Given the description of an element on the screen output the (x, y) to click on. 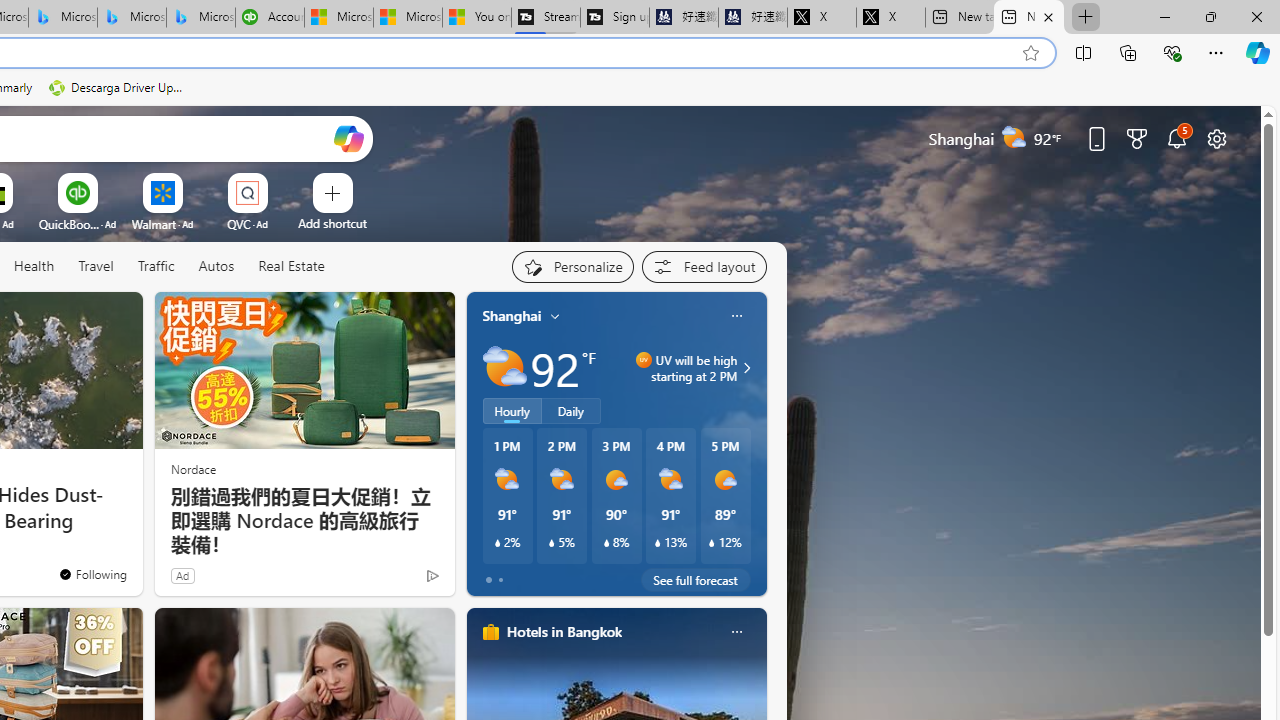
Partly sunny (504, 368)
Partly sunny (504, 368)
hotels-header-icon (490, 632)
Hourly (511, 411)
